Given the description of an element on the screen output the (x, y) to click on. 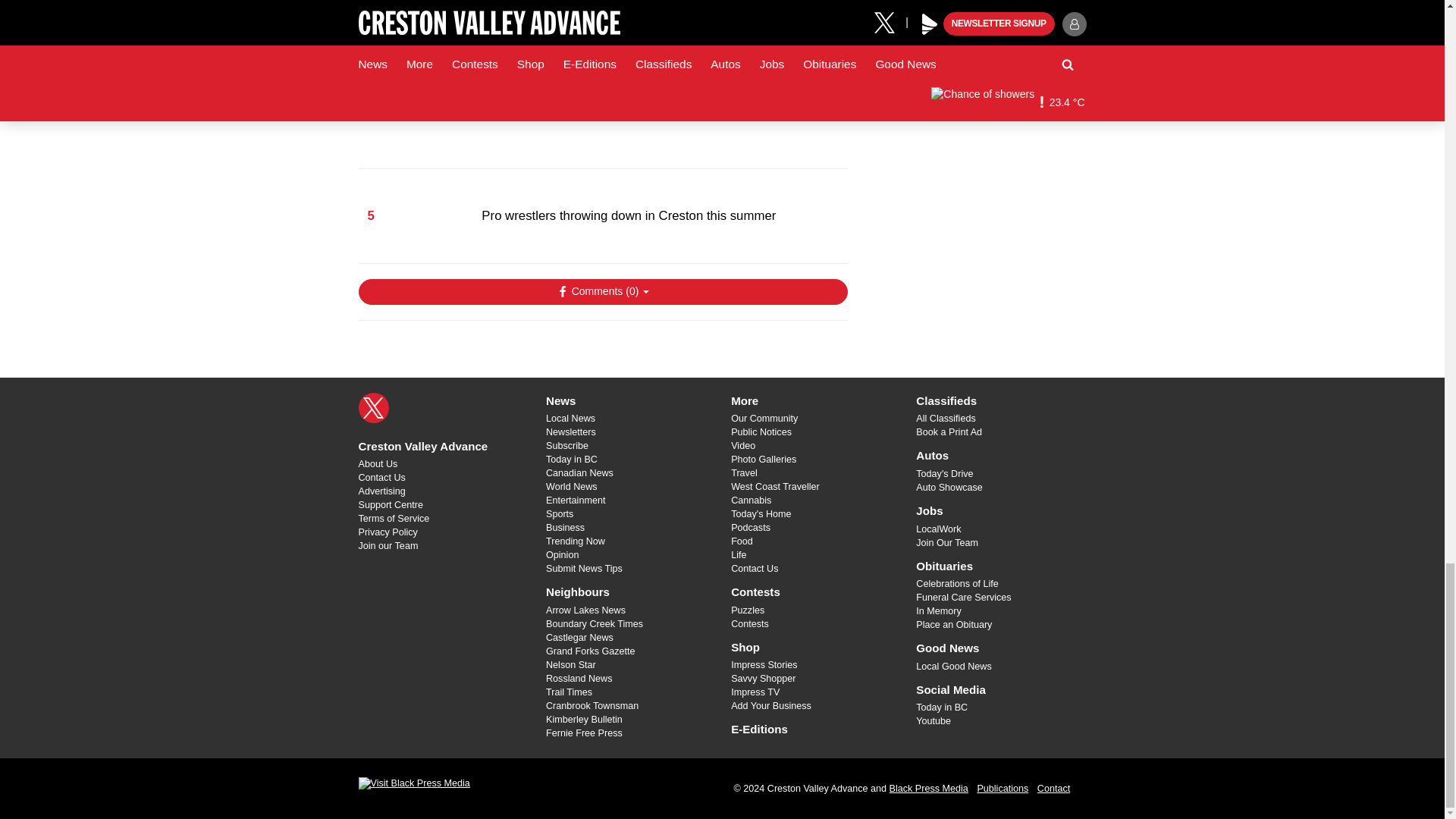
X (373, 408)
Show Comments (602, 291)
